Given the description of an element on the screen output the (x, y) to click on. 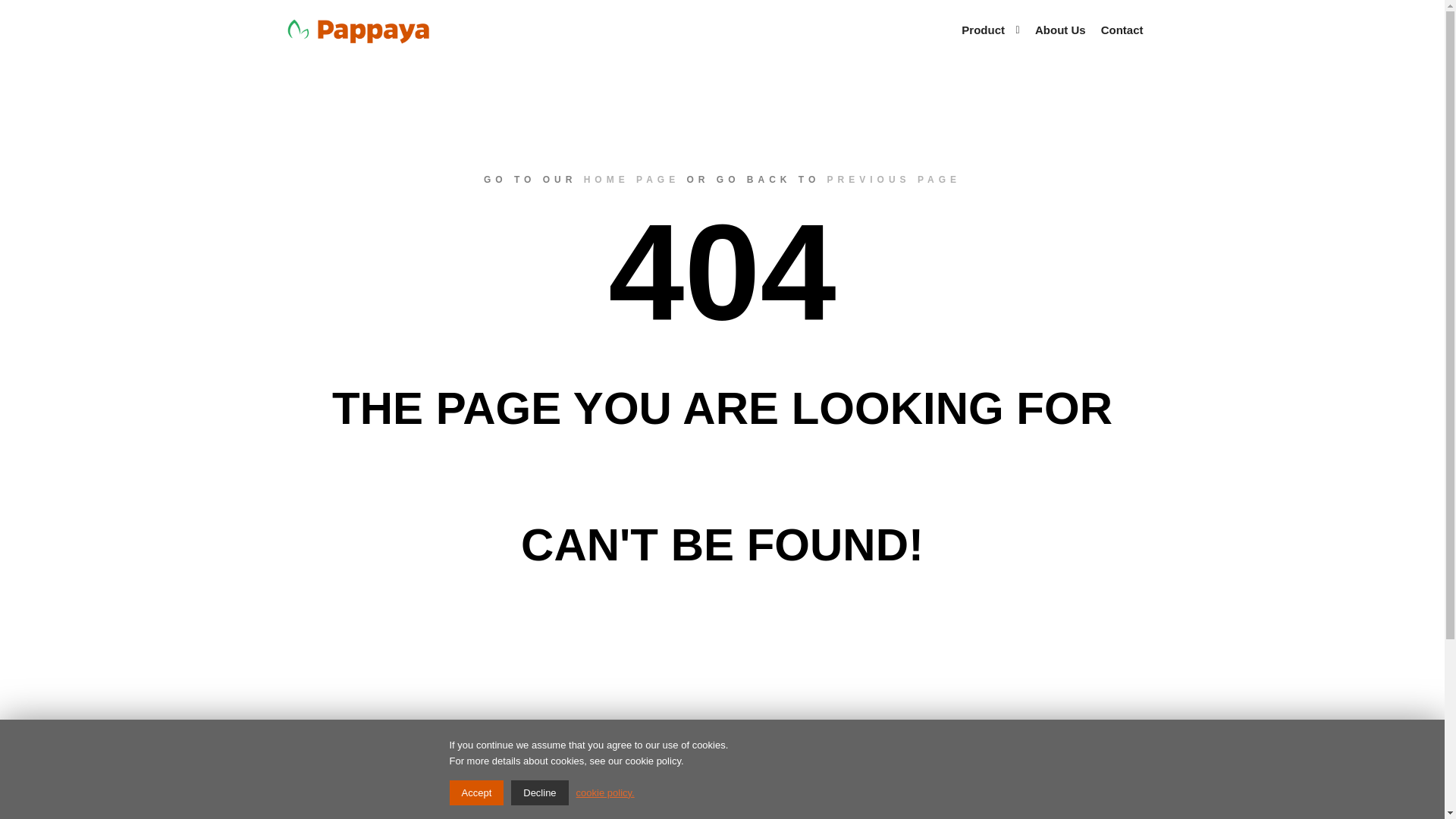
Decline (539, 792)
Home (382, 817)
About Us (1060, 30)
PREVIOUS PAGE (893, 179)
Contact (1122, 30)
HOME PAGE (631, 179)
Pappaya Cloud (608, 817)
pappaya (357, 30)
Accept (475, 792)
cookie policy. (605, 792)
